Given the description of an element on the screen output the (x, y) to click on. 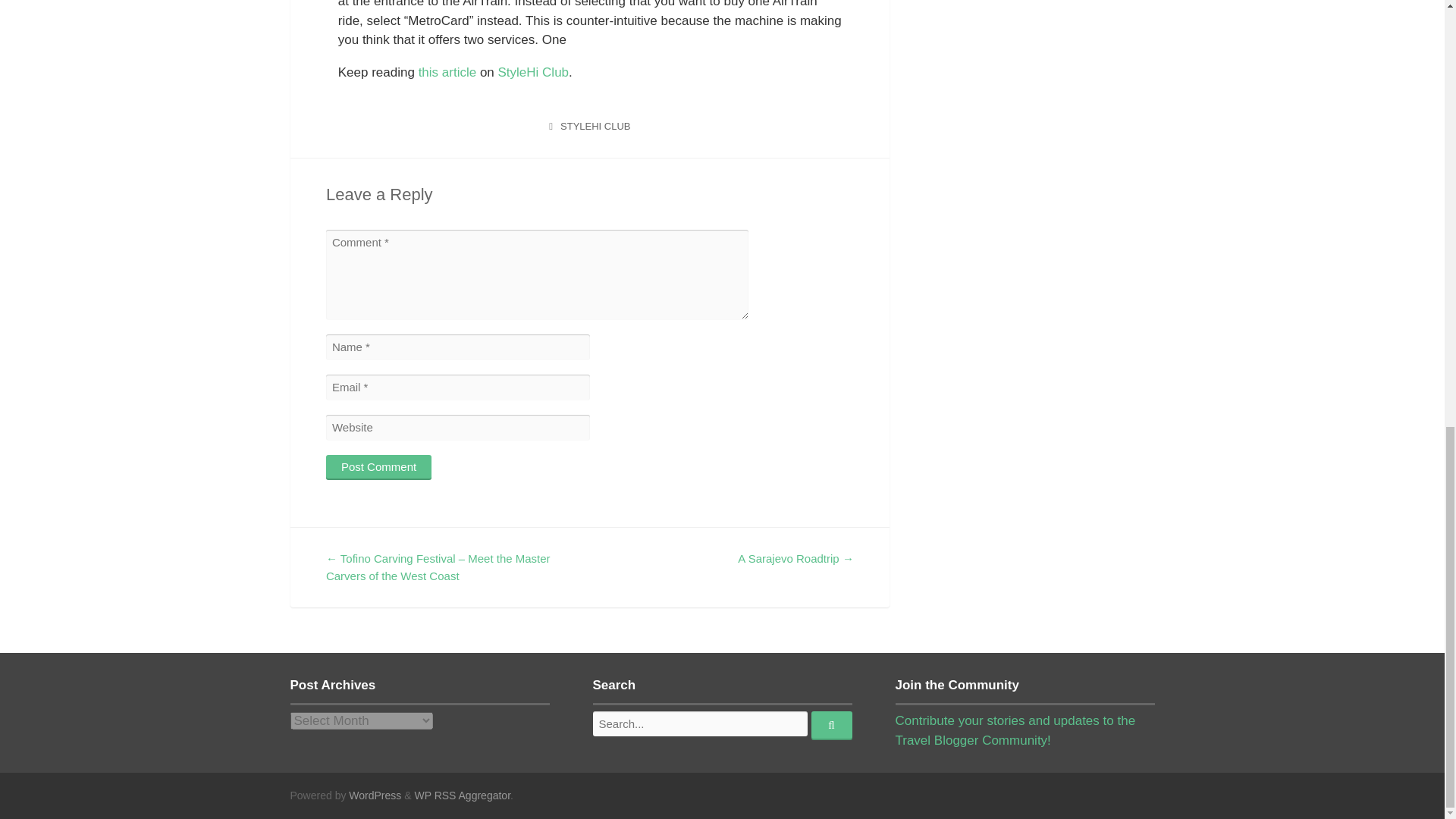
Search... (830, 725)
this article (448, 72)
Post Comment (378, 467)
StyleHi Club (533, 72)
WP RSS Aggregator (462, 795)
Search for: (700, 723)
WordPress (375, 795)
Post Comment (378, 467)
STYLEHI CLUB (595, 125)
